Given the description of an element on the screen output the (x, y) to click on. 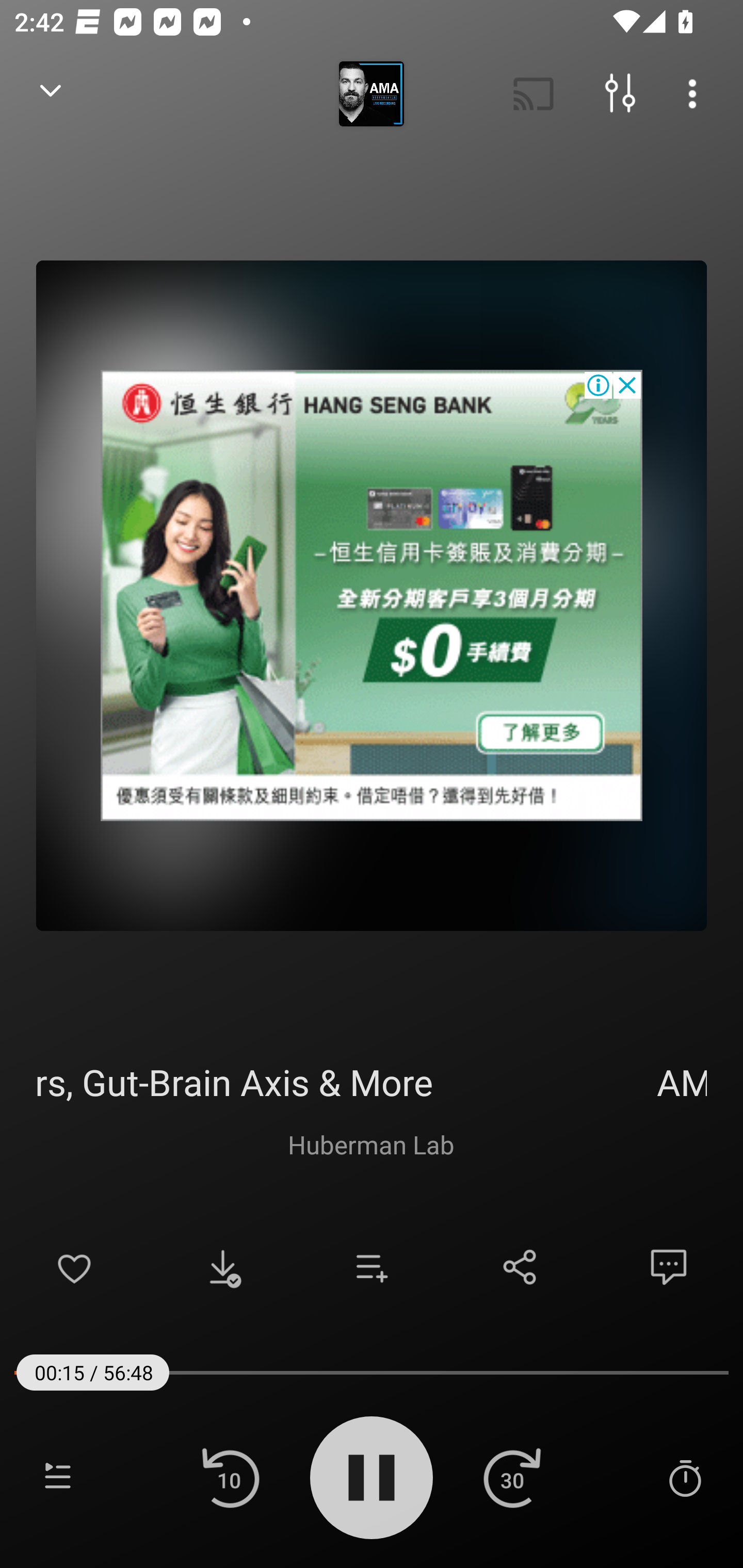
Cast. Disconnected (533, 93)
 Back (50, 94)
Advertisement (371, 595)
Huberman Lab (370, 1144)
Comments (668, 1266)
Add to Favorites (73, 1266)
Add to playlist (371, 1266)
Share (519, 1266)
 Playlist (57, 1477)
Sleep Timer  (684, 1477)
